Given the description of an element on the screen output the (x, y) to click on. 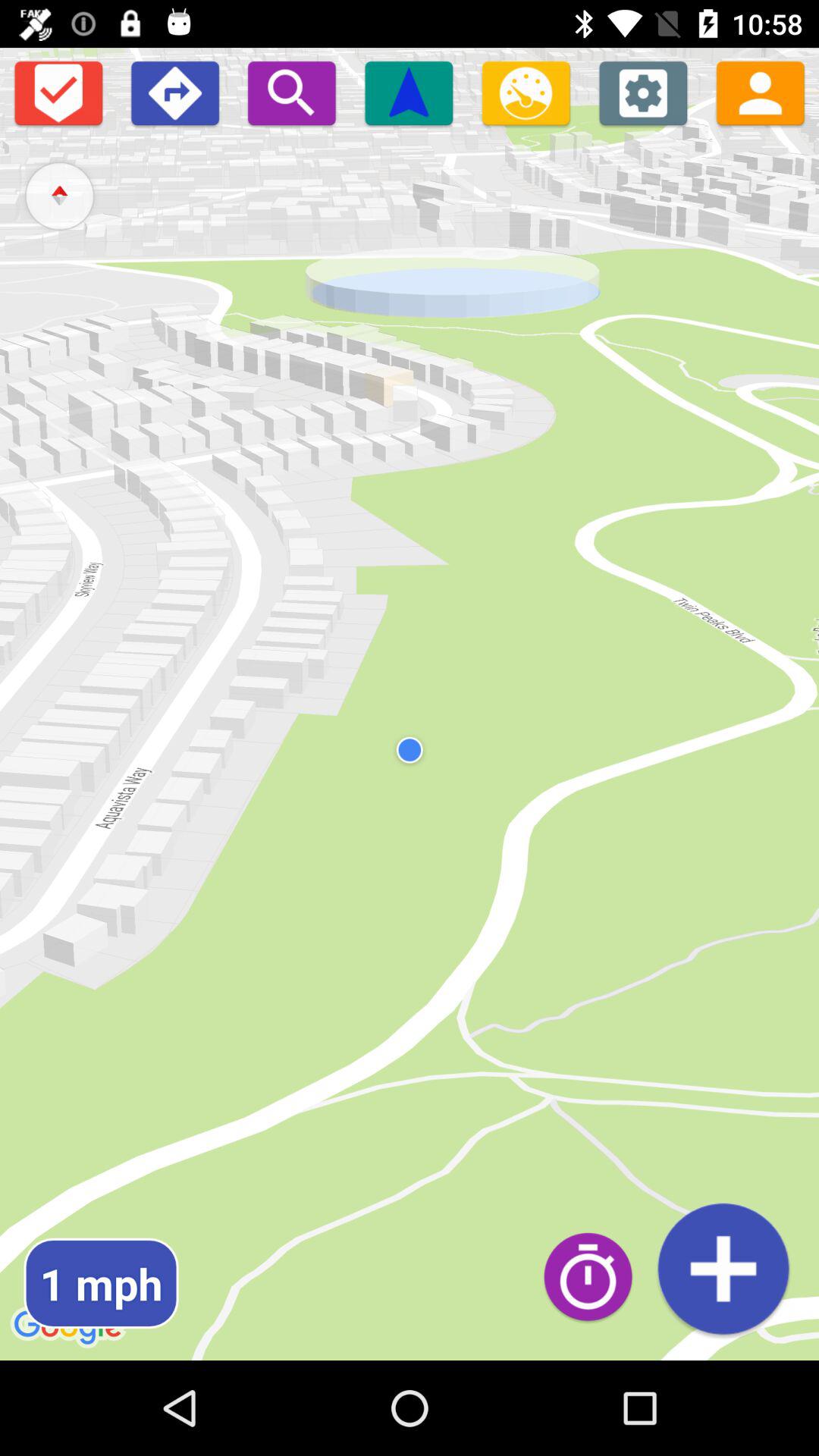
search (291, 92)
